Given the description of an element on the screen output the (x, y) to click on. 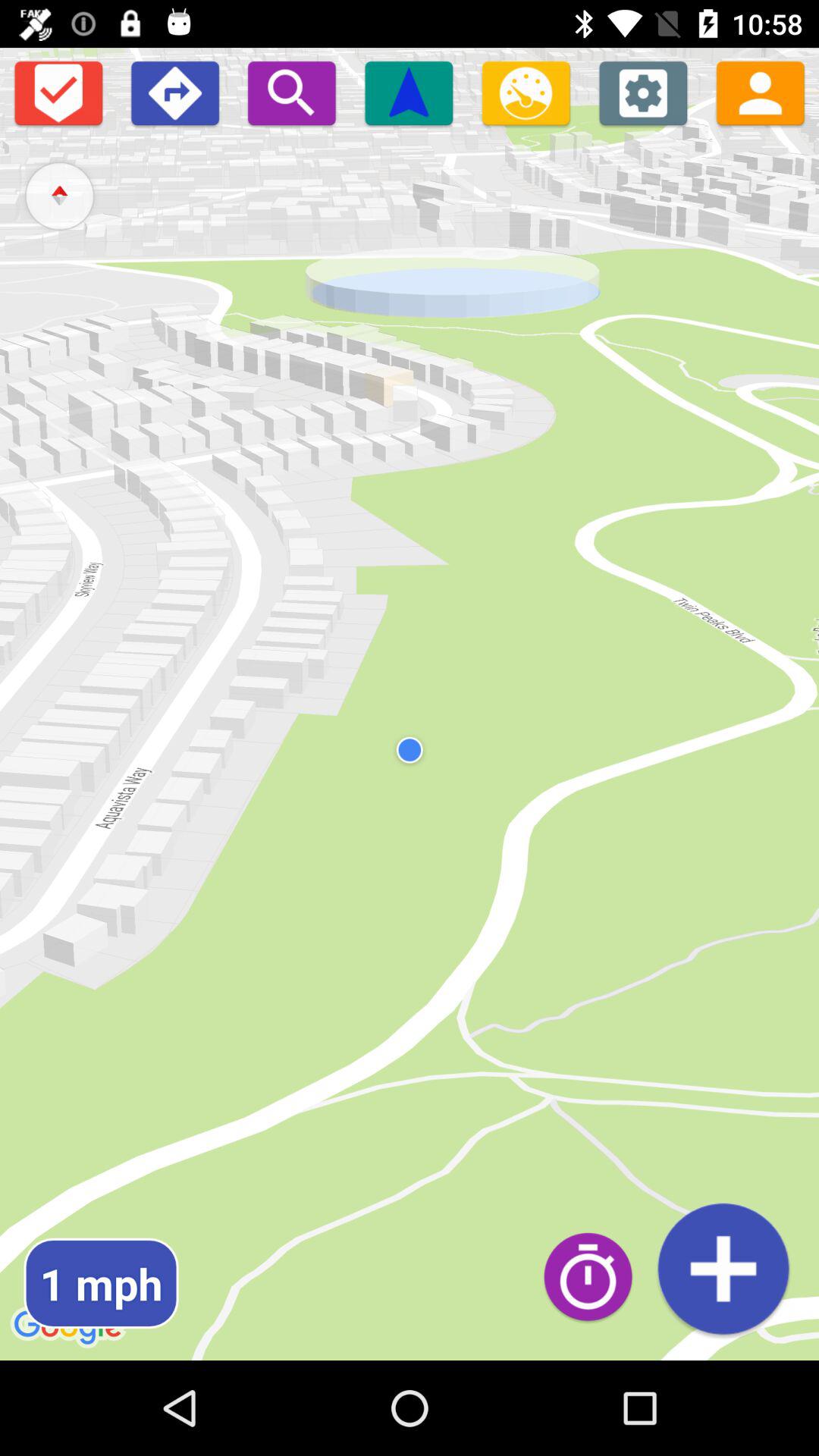
search (291, 92)
